Given the description of an element on the screen output the (x, y) to click on. 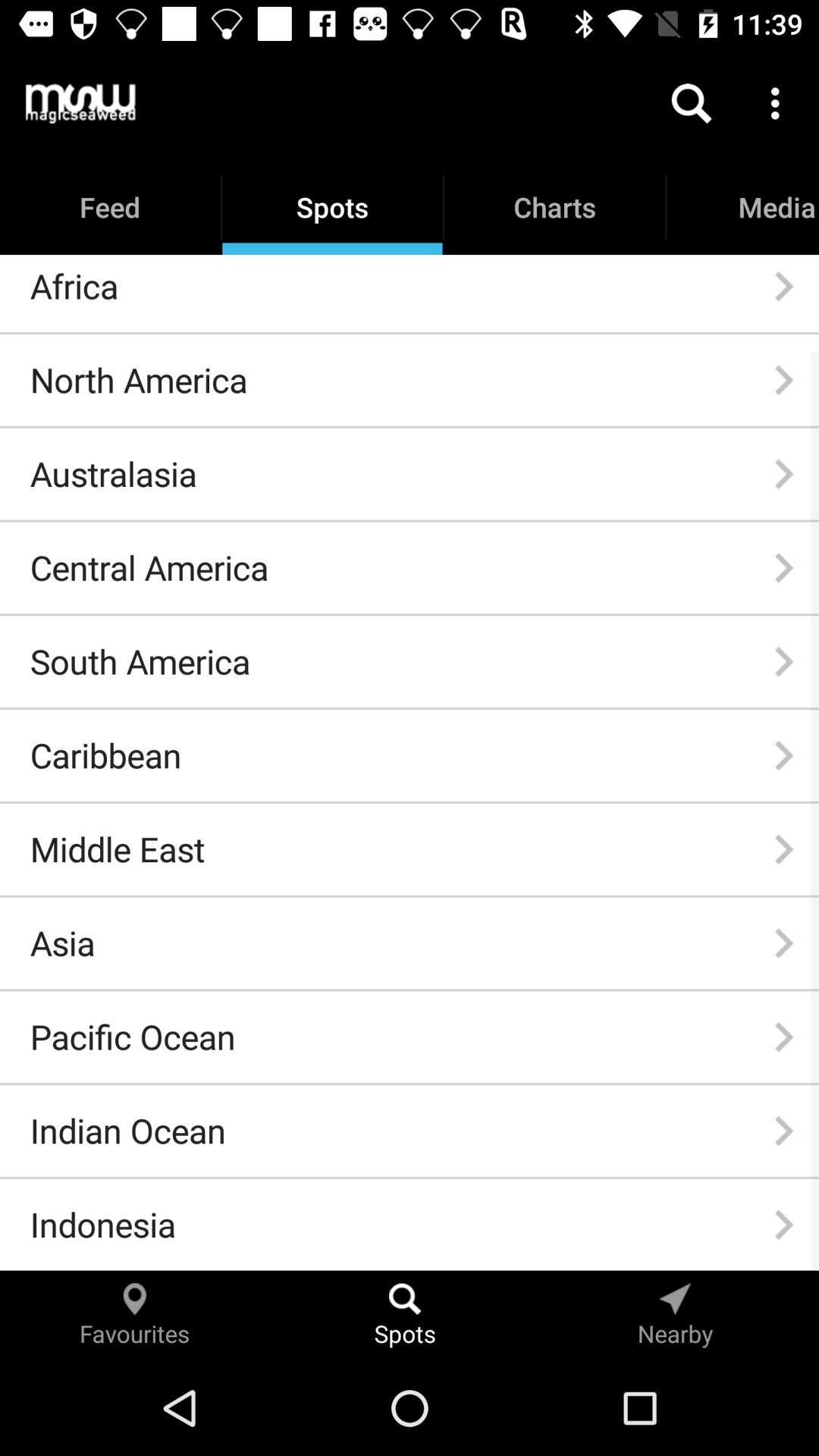
press the item next to indian ocean item (784, 1130)
